Given the description of an element on the screen output the (x, y) to click on. 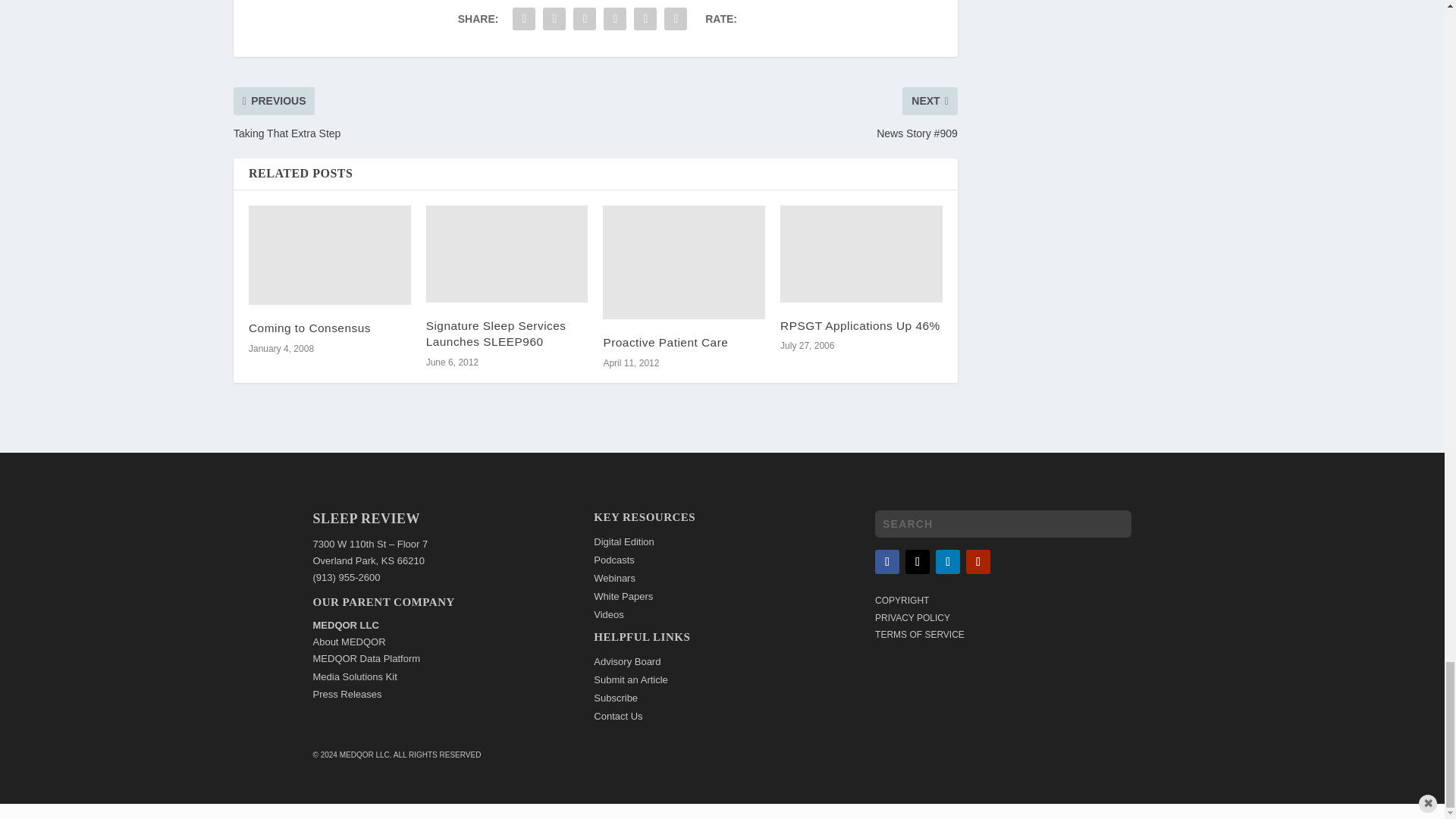
Proactive Patient Care (683, 262)
Signature Sleep Services Launches SLEEP960 (507, 253)
Share "Expecting Company?" via Email (645, 19)
Coming to Consensus (329, 254)
Share "Expecting Company?" via Pinterest (584, 19)
Share "Expecting Company?" via LinkedIn (614, 19)
Share "Expecting Company?" via Print (675, 19)
Follow on Facebook (887, 561)
Share "Expecting Company?" via Twitter (553, 19)
Share "Expecting Company?" via Facebook (523, 19)
